Given the description of an element on the screen output the (x, y) to click on. 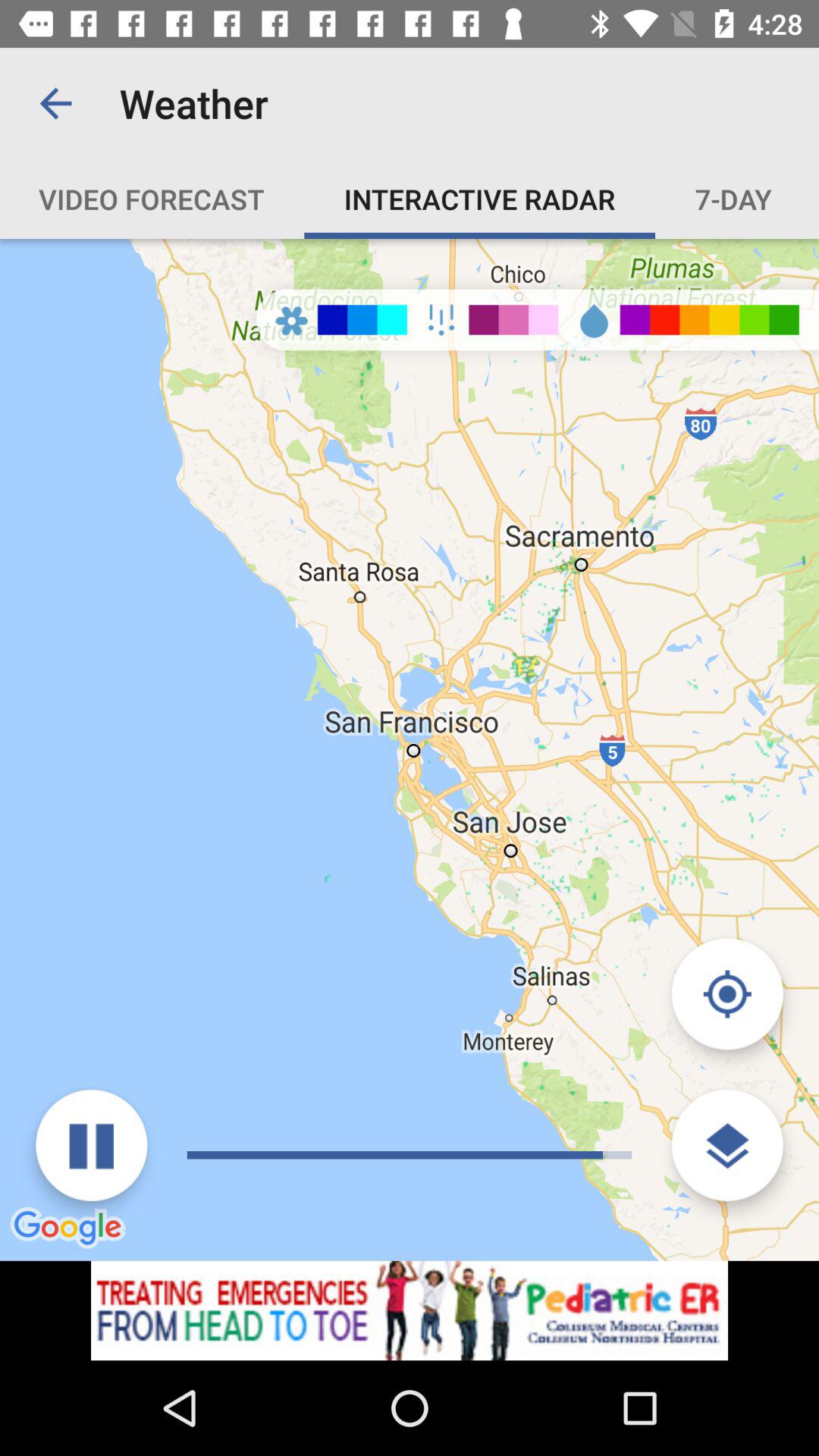
advertisement (409, 1310)
